Given the description of an element on the screen output the (x, y) to click on. 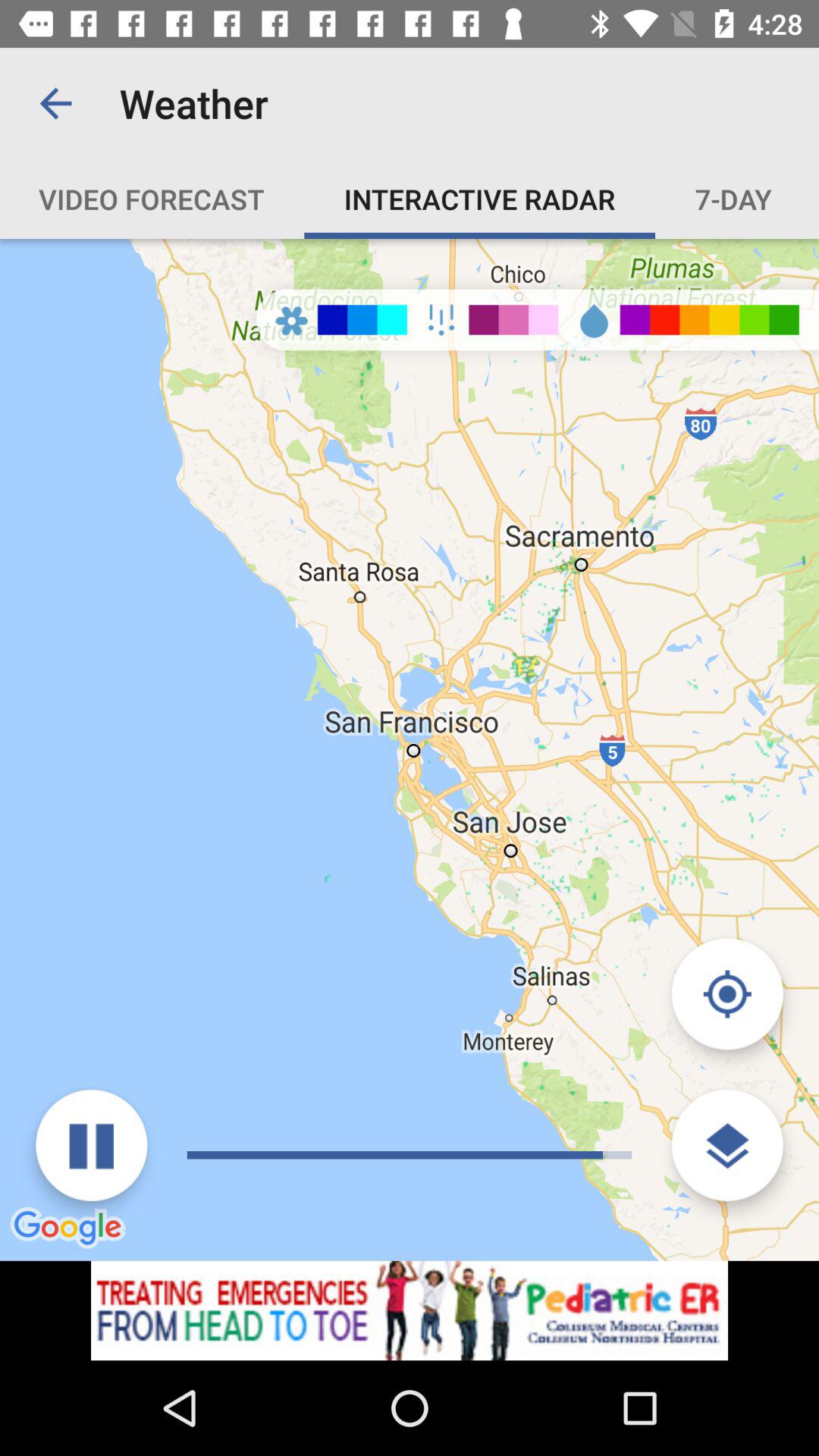
advertisement (409, 1310)
